Given the description of an element on the screen output the (x, y) to click on. 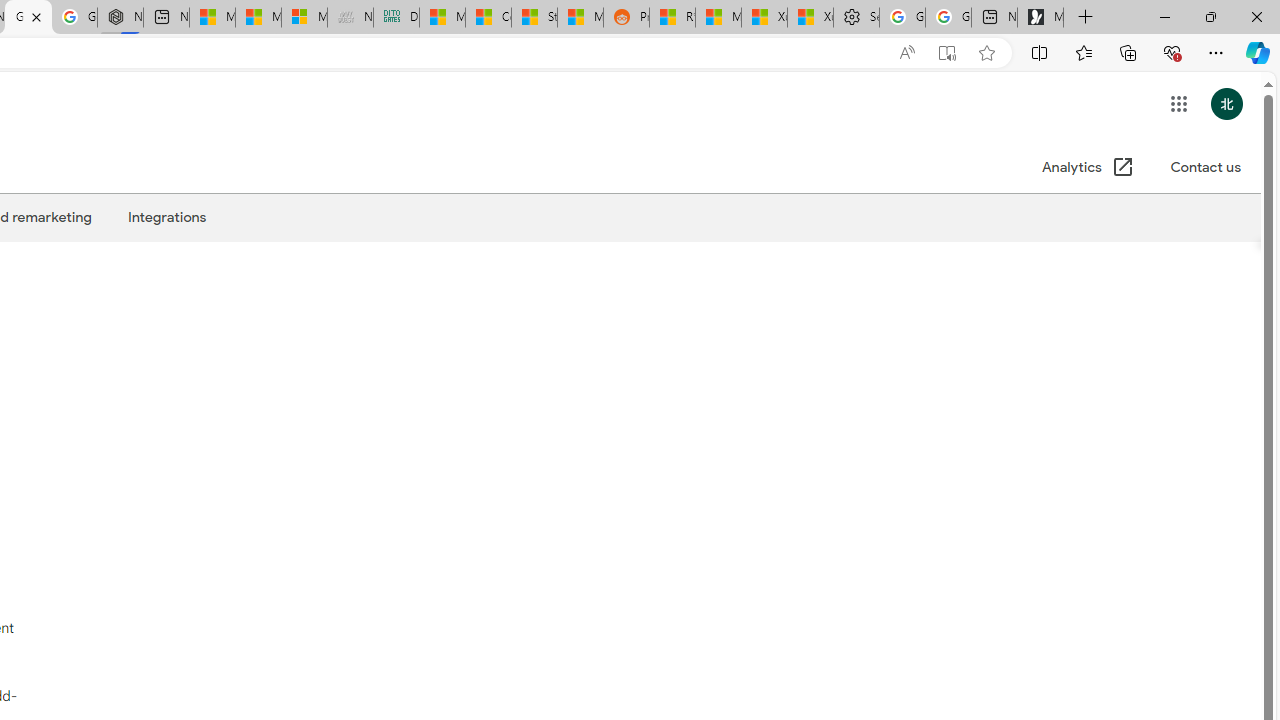
Contact us (1205, 168)
Integrations (166, 217)
Integrations (166, 217)
Google apps (1178, 103)
MSNBC - MSN (441, 17)
Microsoft Start Gaming (1040, 17)
